Given the description of an element on the screen output the (x, y) to click on. 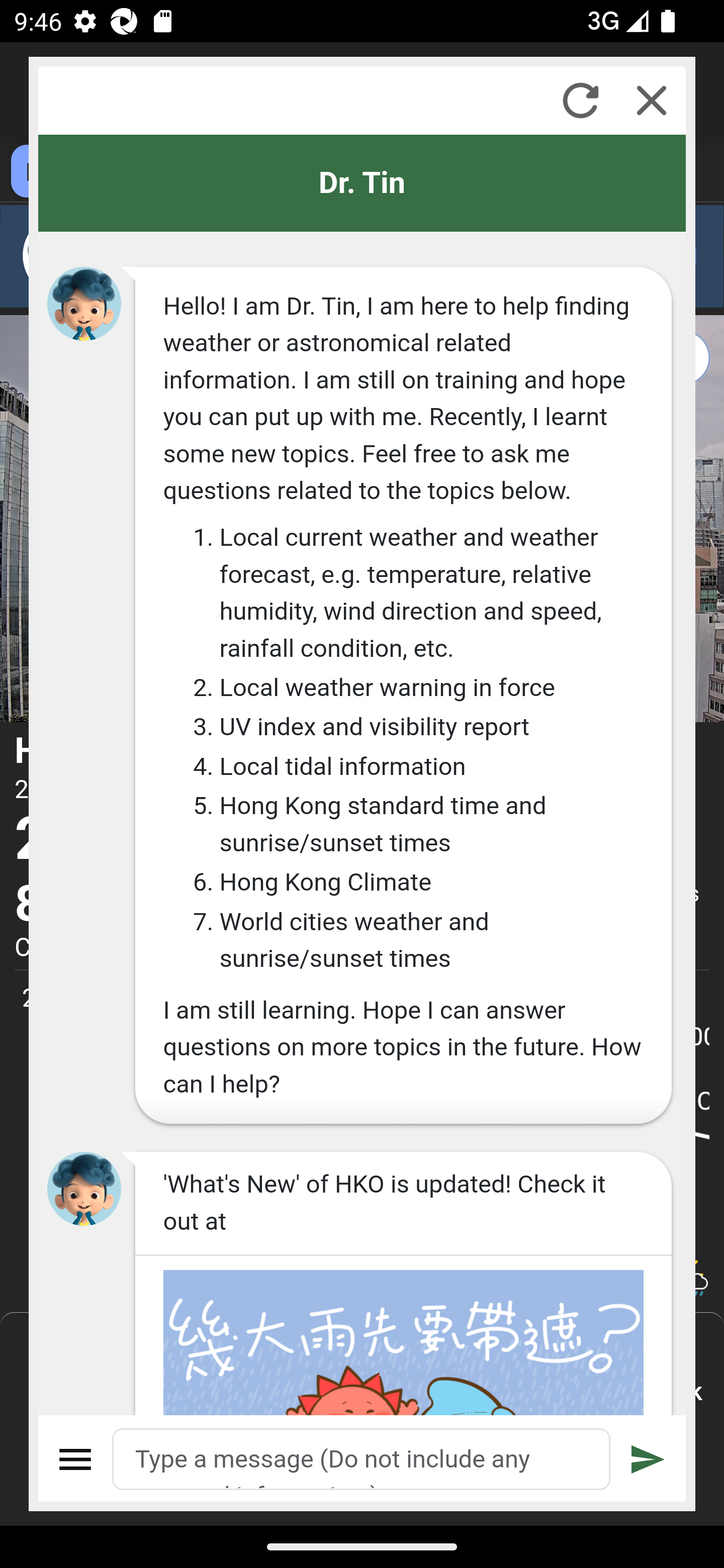
Refresh (580, 100)
Close (651, 100)
Menu (75, 1458)
Submit (648, 1458)
